Given the description of an element on the screen output the (x, y) to click on. 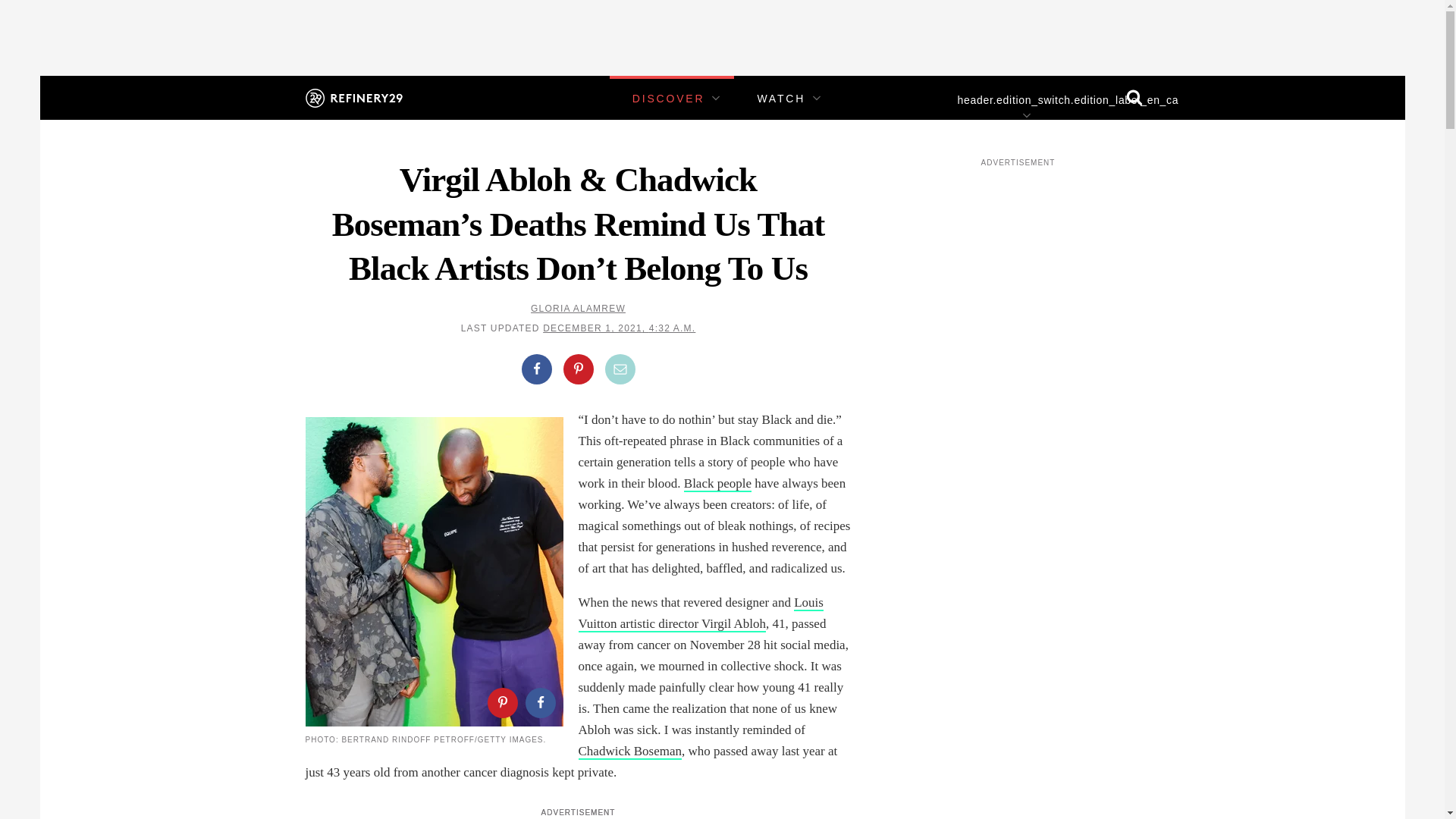
Refinery29 (352, 97)
DISCOVER (667, 98)
GLORIA ALAMREW (578, 308)
Share on Facebook (539, 702)
Share on Pinterest (501, 702)
Share on Pinterest (577, 368)
Louis Vuitton artistic director Virgil Abloh (700, 613)
DECEMBER 1, 2021, 4:32 A.M. (619, 327)
Share by Email (619, 368)
Chadwick Boseman (629, 751)
Black people (717, 483)
WATCH (781, 98)
Share on Facebook (536, 368)
